Given the description of an element on the screen output the (x, y) to click on. 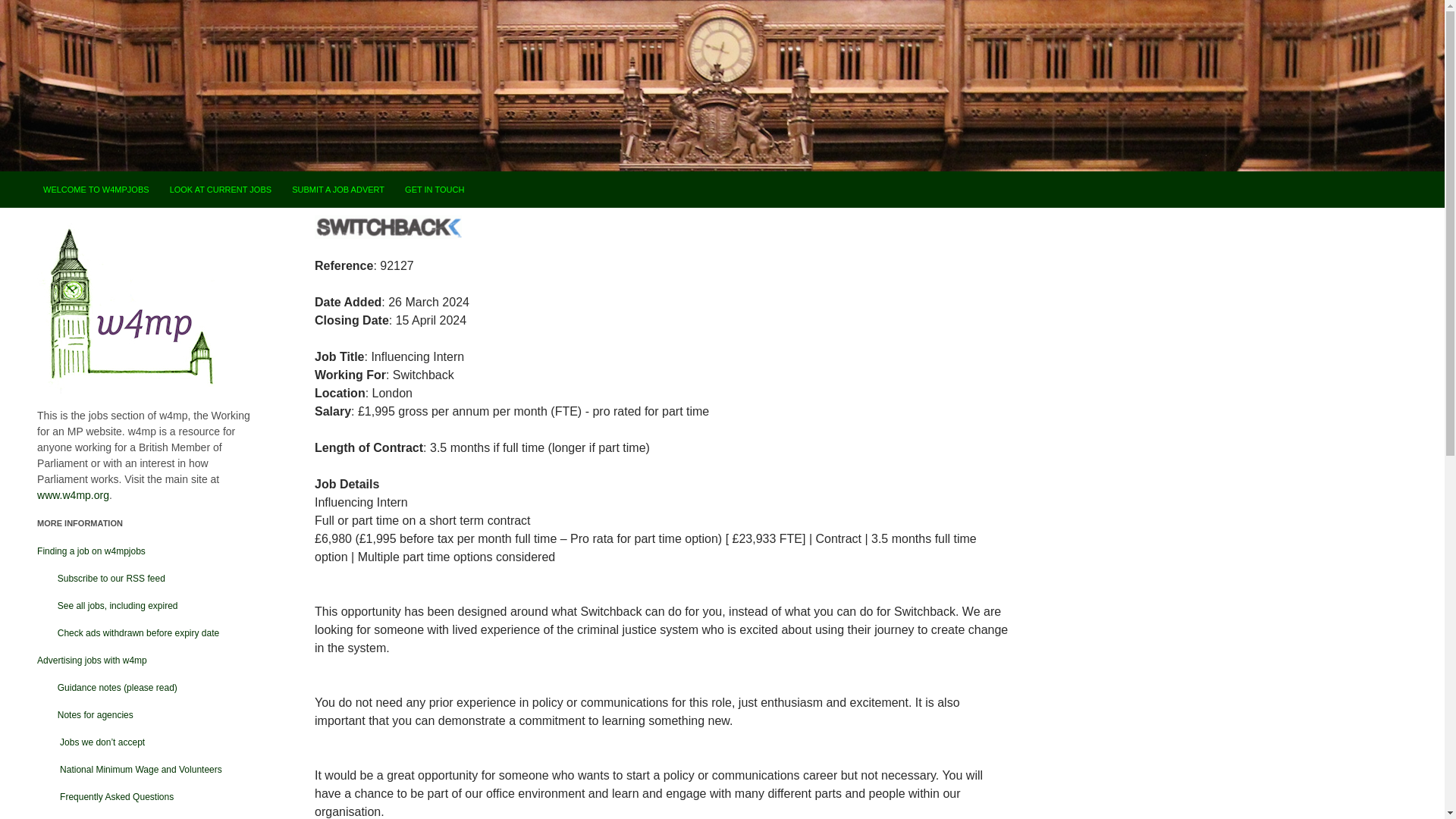
Go to website (387, 227)
Welcome to W4MPJobs (95, 189)
         National Minimum Wage and Volunteers (129, 769)
        Check ads withdrawn before expiry date (128, 633)
Finding a job on w4mpjobs (91, 551)
        See all jobs, including expired (107, 605)
GET IN TOUCH (434, 189)
LOOK AT CURRENT JOBS (220, 189)
        Subscribe to our RSS feed (101, 578)
Advertising jobs with w4mp (92, 660)
Visit the main site at www.w4mp.org (73, 494)
www.w4mp.org (73, 494)
        Notes for agencies (85, 715)
Look at current jobs (220, 189)
WELCOME TO W4MPJOBS (95, 189)
